Given the description of an element on the screen output the (x, y) to click on. 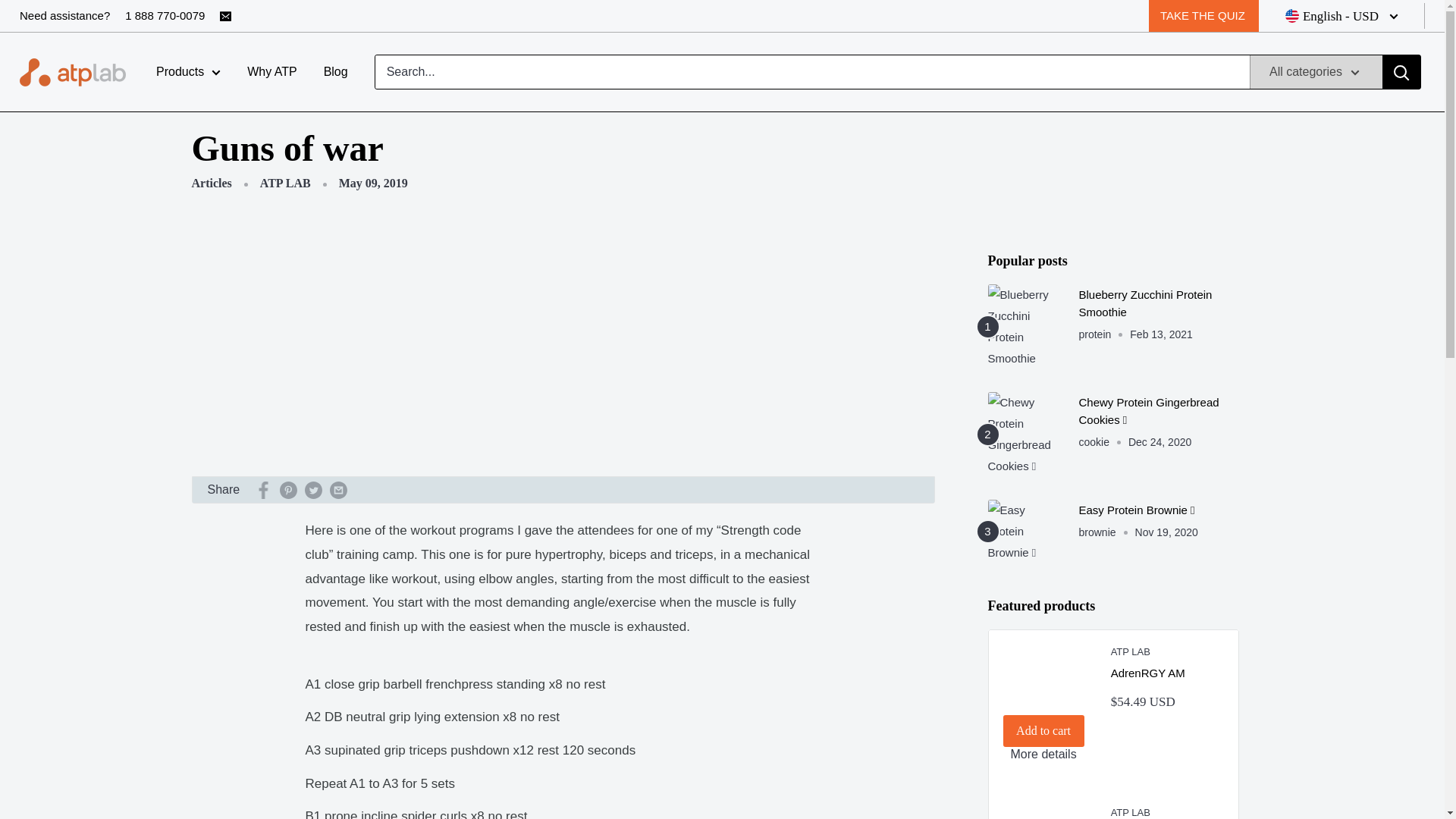
Blog (335, 71)
Why ATP (272, 71)
Need assistance? (65, 15)
TAKE THE QUIZ (1203, 15)
Products (188, 71)
